Given the description of an element on the screen output the (x, y) to click on. 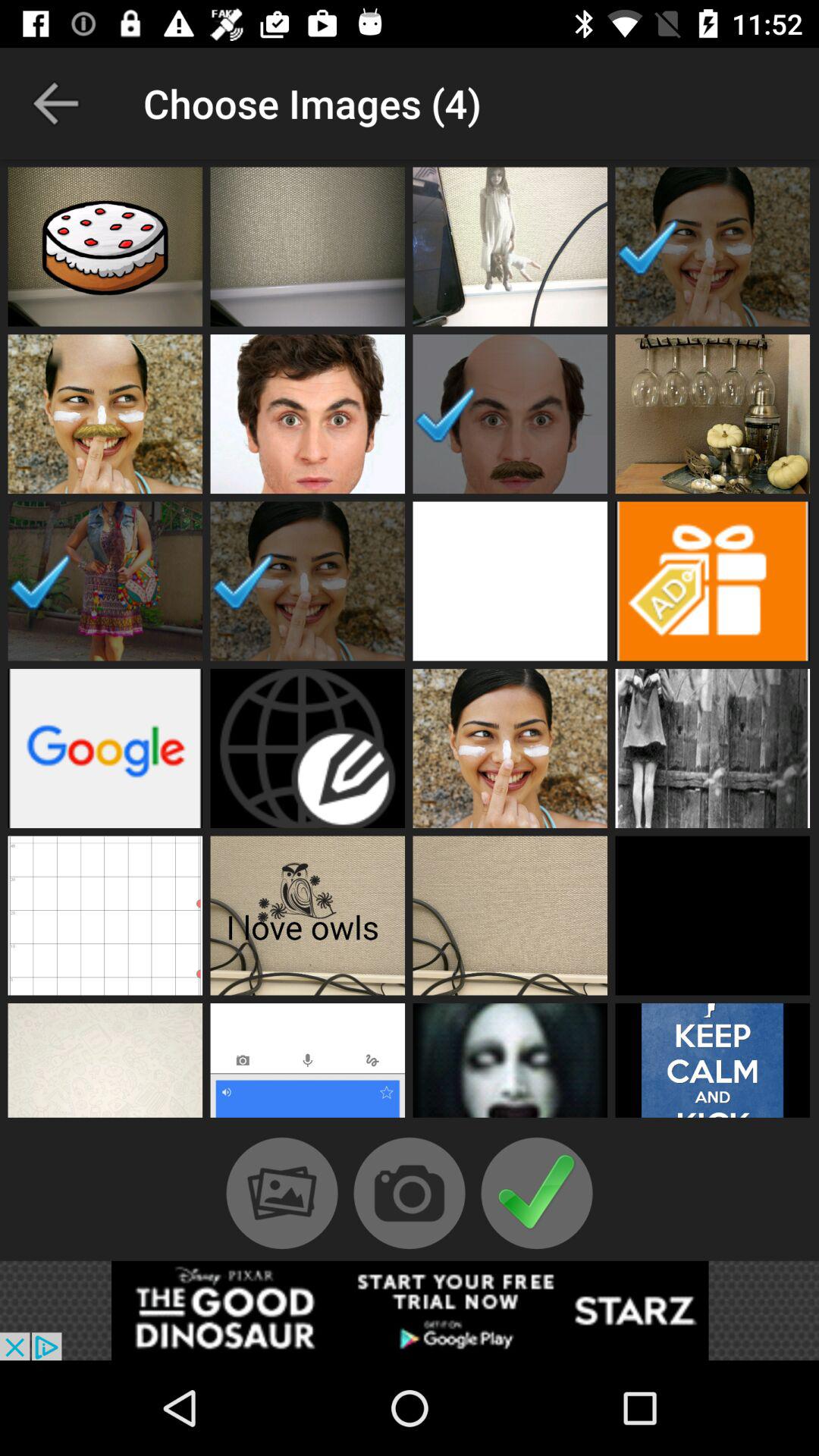
choose image (712, 413)
